Given the description of an element on the screen output the (x, y) to click on. 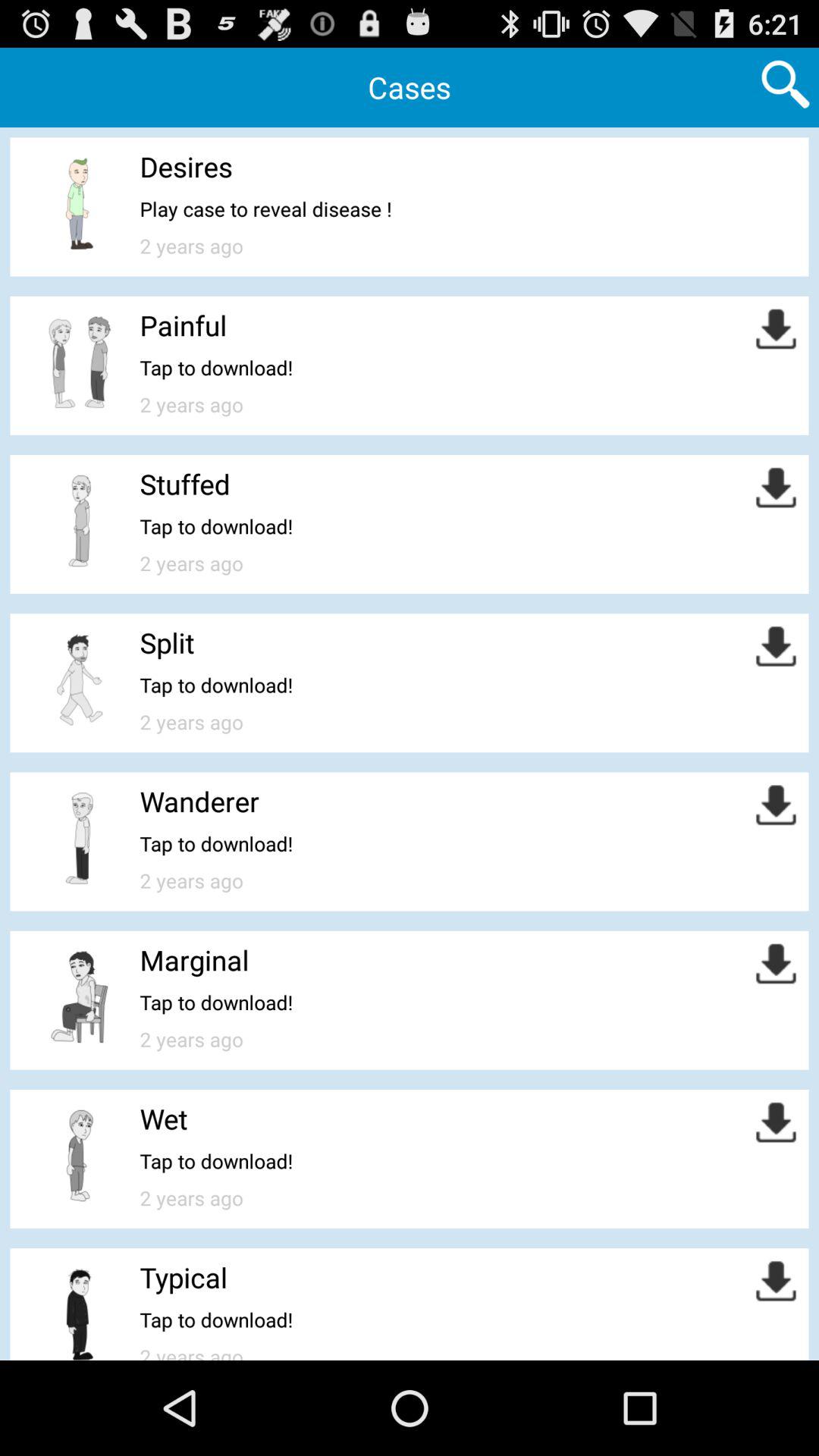
tap the play case to item (265, 208)
